Given the description of an element on the screen output the (x, y) to click on. 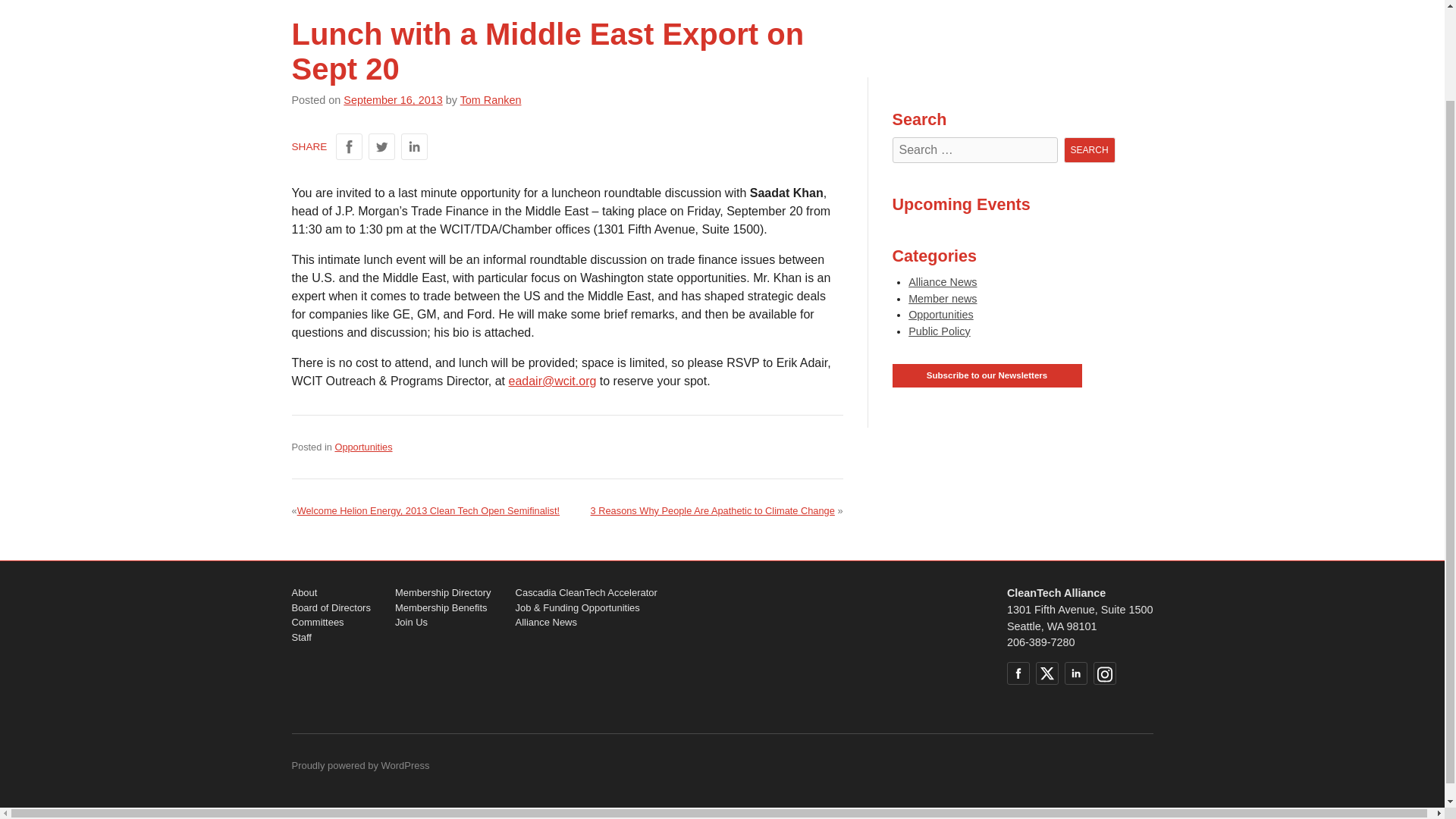
Vist CleanTech Alliance on LinkedIn (1075, 672)
Search (1089, 149)
Search (1089, 149)
Visit CleanTech Alliance on Facebook (1018, 672)
Visit CleanTech Alliance on Twitter (1046, 672)
Share on Facebook (349, 146)
Share on Twitter (381, 146)
Share on LinkedIn (414, 146)
Vist CleanTech Alliance on Instagram (1104, 672)
